Given the description of an element on the screen output the (x, y) to click on. 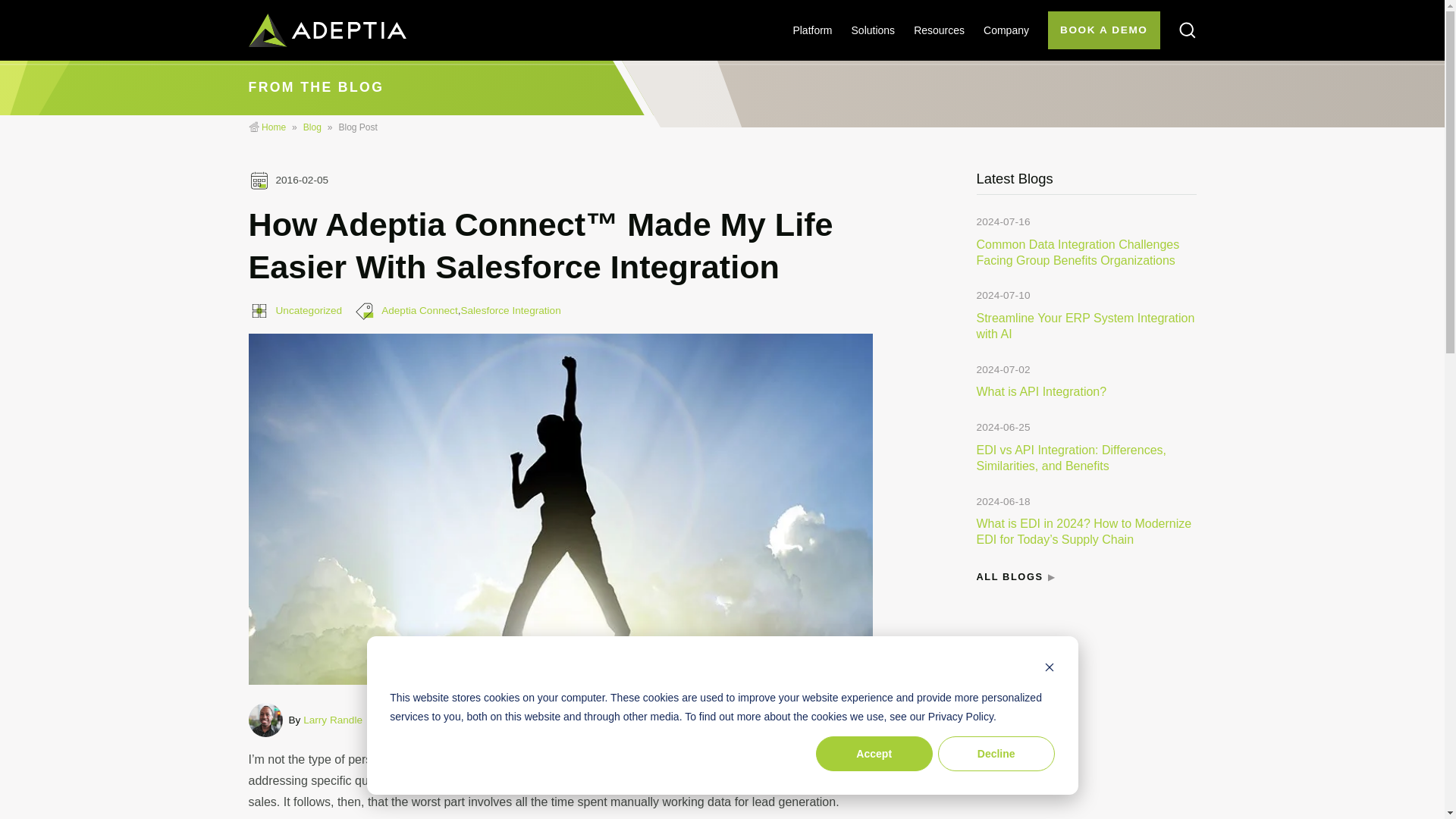
Solutions (873, 30)
Adeptia Connect (419, 310)
Platform (812, 30)
Salesforce Integration (510, 310)
Uncategorized (309, 310)
Streamline Your ERP System Integration with AI (1085, 326)
Resources (938, 30)
Read all blogs (1009, 577)
What is API Integration? (1041, 391)
Back to home (327, 29)
Book a Demo (1104, 30)
Adeptia (273, 126)
From the Blog (311, 126)
